Given the description of an element on the screen output the (x, y) to click on. 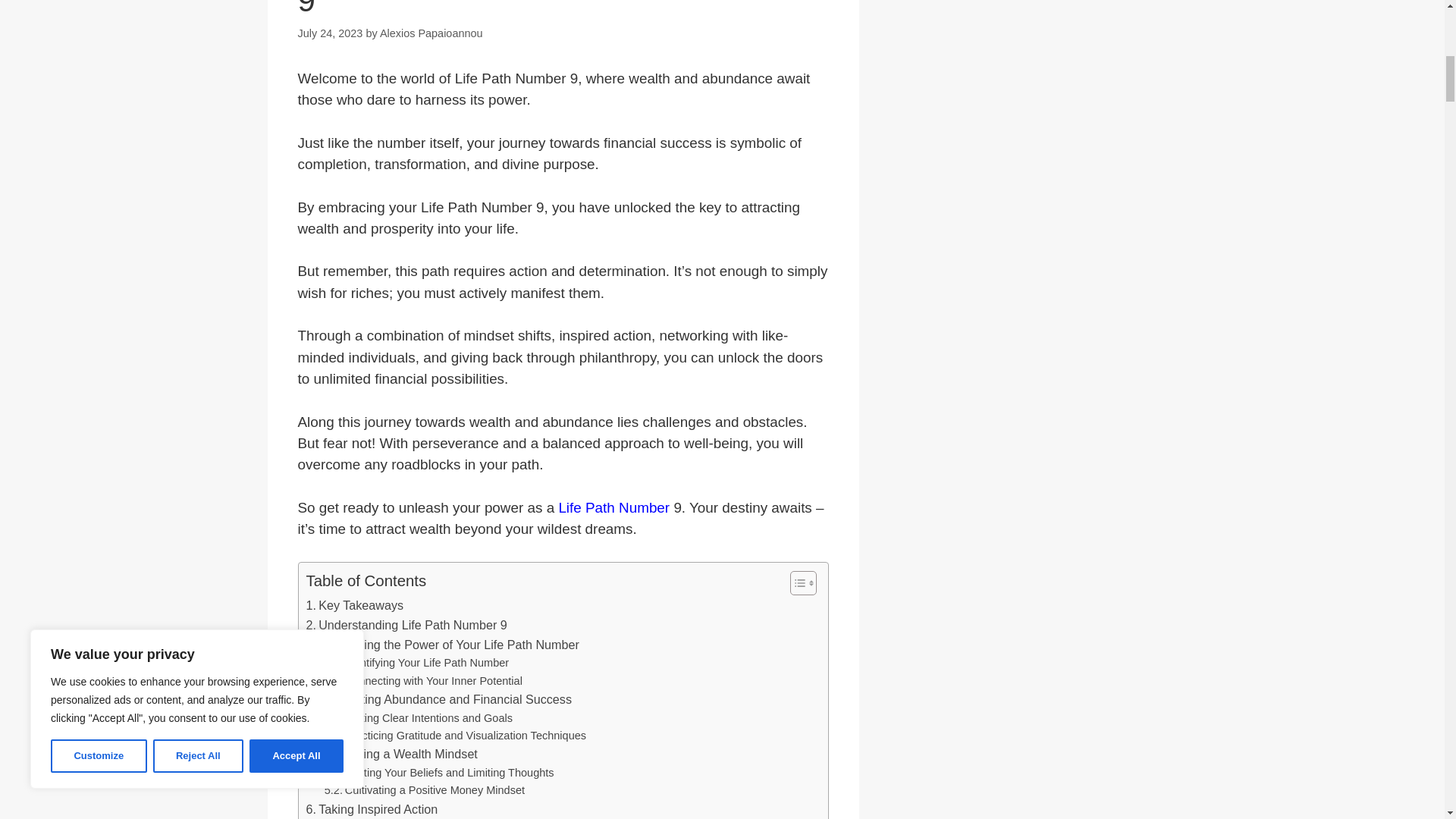
Life Path Number (613, 507)
Harnessing the Power of Your Life Path Number (442, 645)
Understanding Life Path Number 9 (405, 625)
Alexios Papaioannou (431, 33)
Setting Clear Intentions and Goals (418, 718)
Manifesting Abundance and Financial Success (438, 700)
Key Takeaways (354, 605)
Connecting with Your Inner Potential (423, 681)
Identifying Your Life Path Number (416, 662)
